Given the description of an element on the screen output the (x, y) to click on. 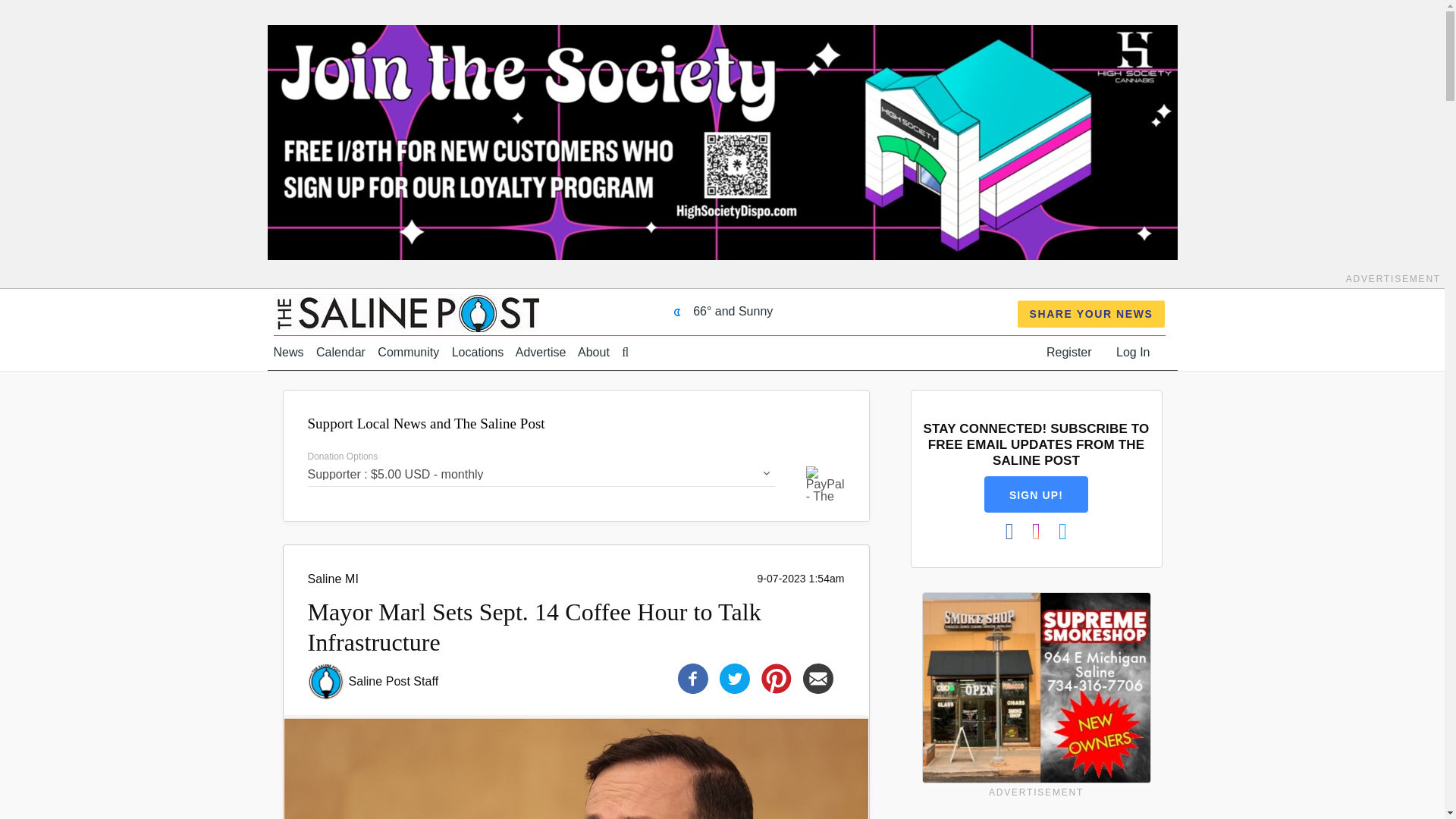
Advertise (540, 351)
Saline MI (332, 578)
About (594, 351)
Calendar (340, 351)
Log In (1132, 351)
Saline Post Staff (394, 680)
SHARE YOUR NEWS (1091, 313)
SHARE YOUR NEWS (1091, 313)
News (287, 351)
The Saline Post (405, 311)
Saline MI weather (719, 310)
Saline Post Staff (394, 680)
The Saline Post (405, 313)
Community (408, 351)
Facebook (692, 676)
